Given the description of an element on the screen output the (x, y) to click on. 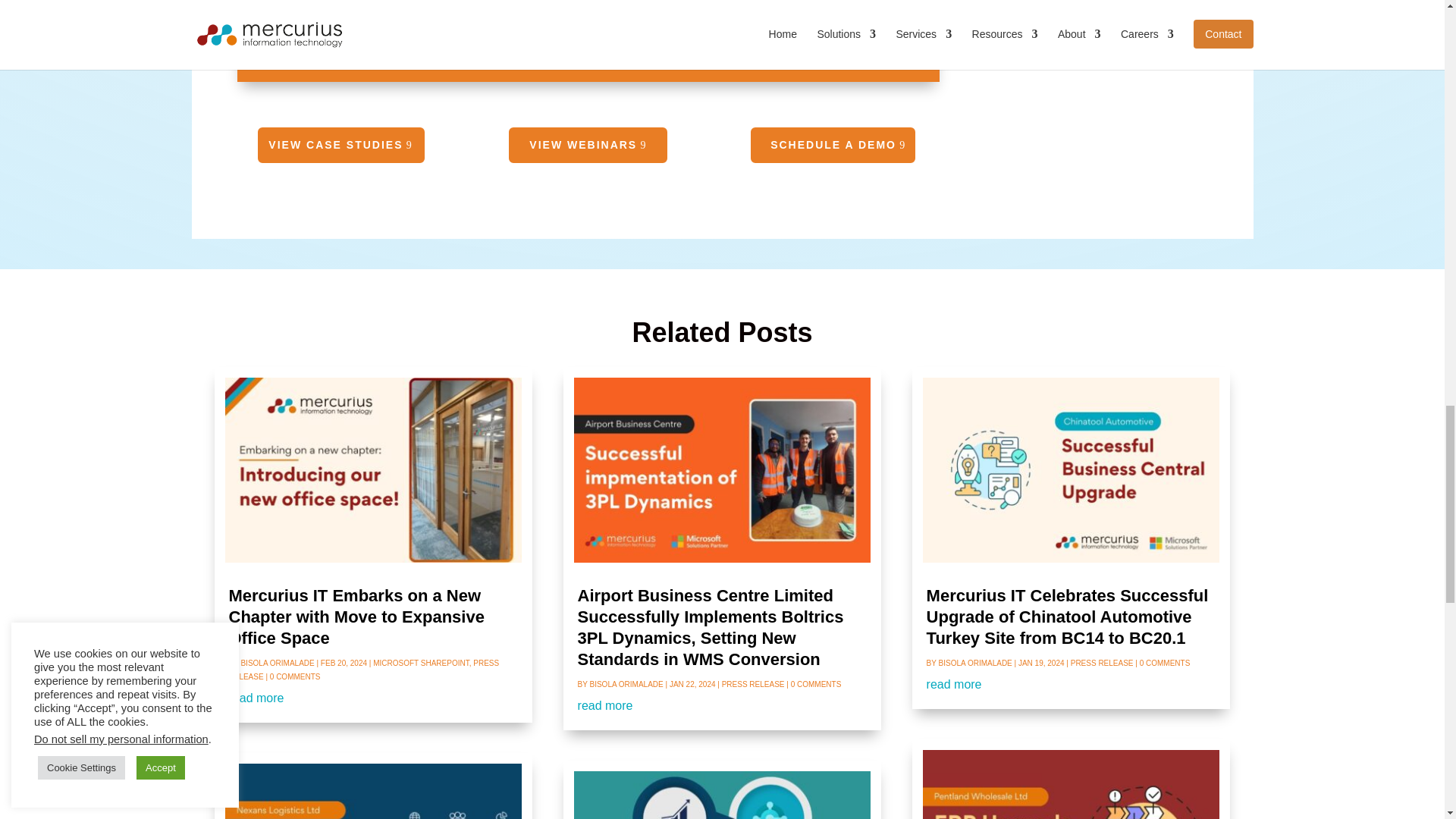
Posts by Bisola Orimalade (277, 663)
Posts by Bisola Orimalade (975, 663)
Posts by Bisola Orimalade (625, 684)
